Given the description of an element on the screen output the (x, y) to click on. 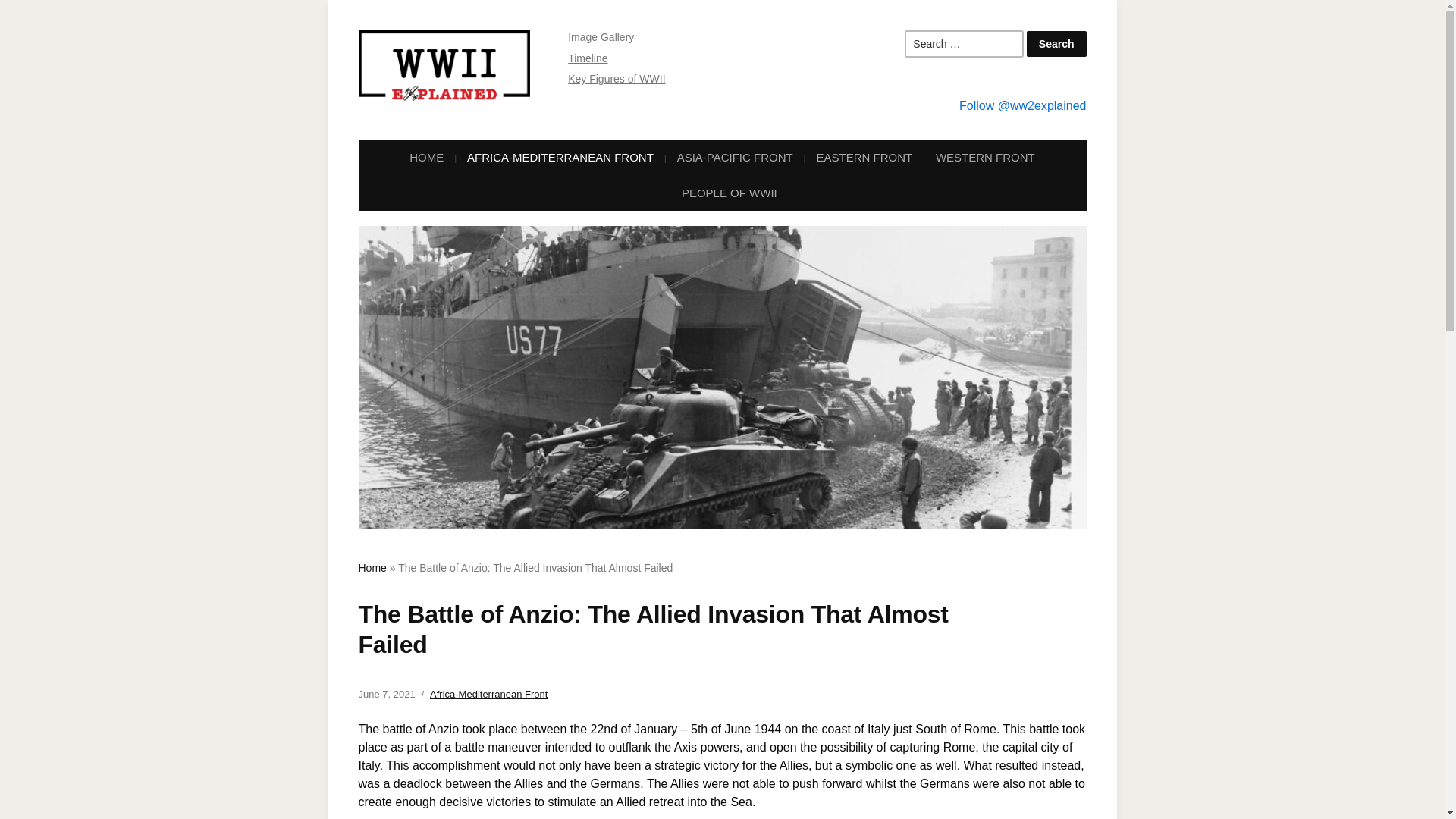
EASTERN FRONT (863, 157)
PEOPLE OF WWII (729, 192)
ASIA-PACIFIC FRONT (735, 157)
Search (1056, 43)
Africa-Mediterranean Front (488, 694)
HOME (426, 157)
Search (1056, 43)
Timeline (587, 58)
Search (1056, 43)
WESTERN FRONT (985, 157)
